Given the description of an element on the screen output the (x, y) to click on. 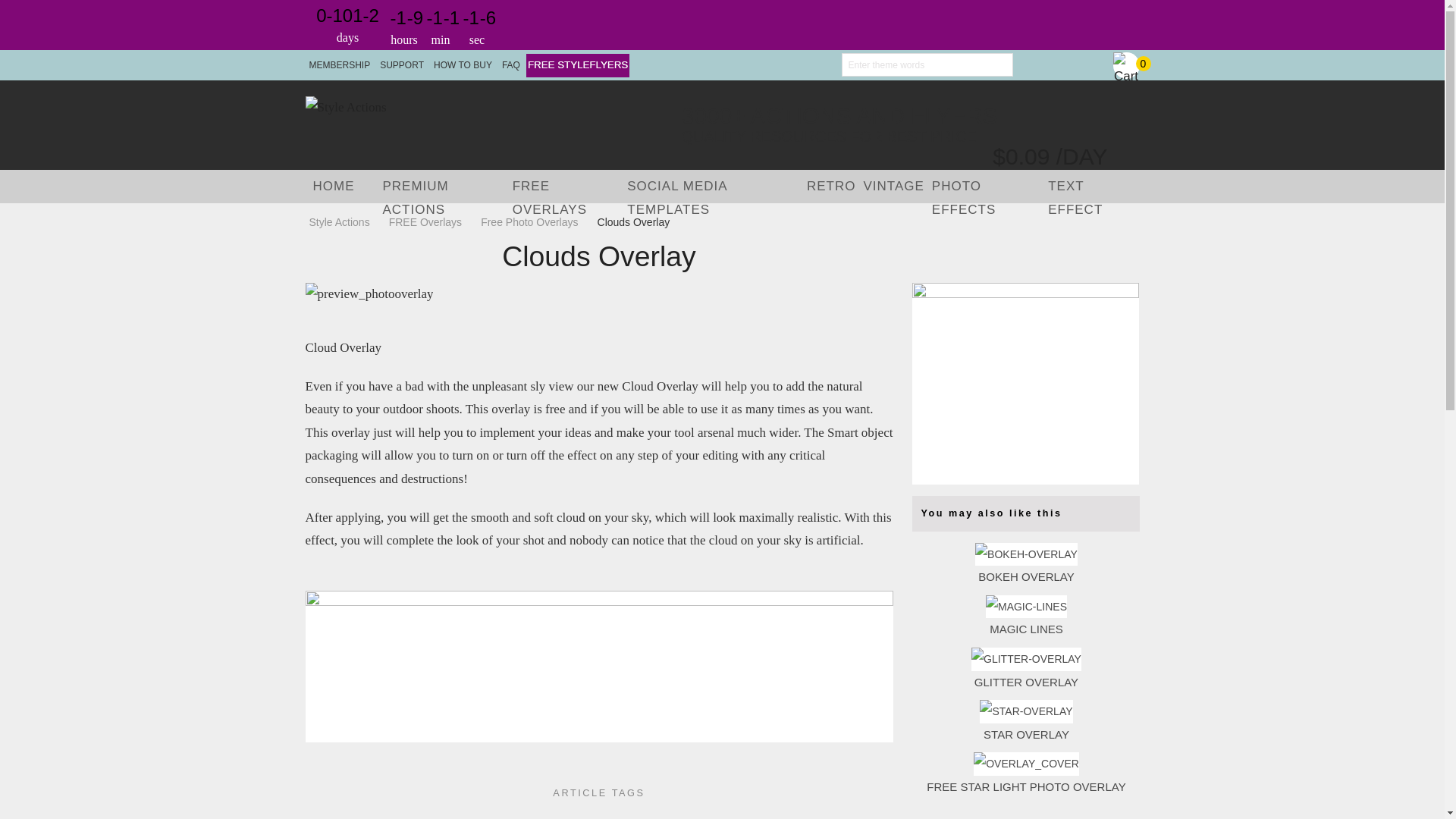
Home (333, 186)
VINTAGE (893, 186)
FREE Overlays (424, 222)
HOME (333, 186)
0 (1126, 65)
Style Actions (342, 222)
MEMBERSHIP (339, 65)
RETRO (831, 186)
TEXT EFFECT (1091, 186)
Go to Style Actions. (342, 222)
